Given the description of an element on the screen output the (x, y) to click on. 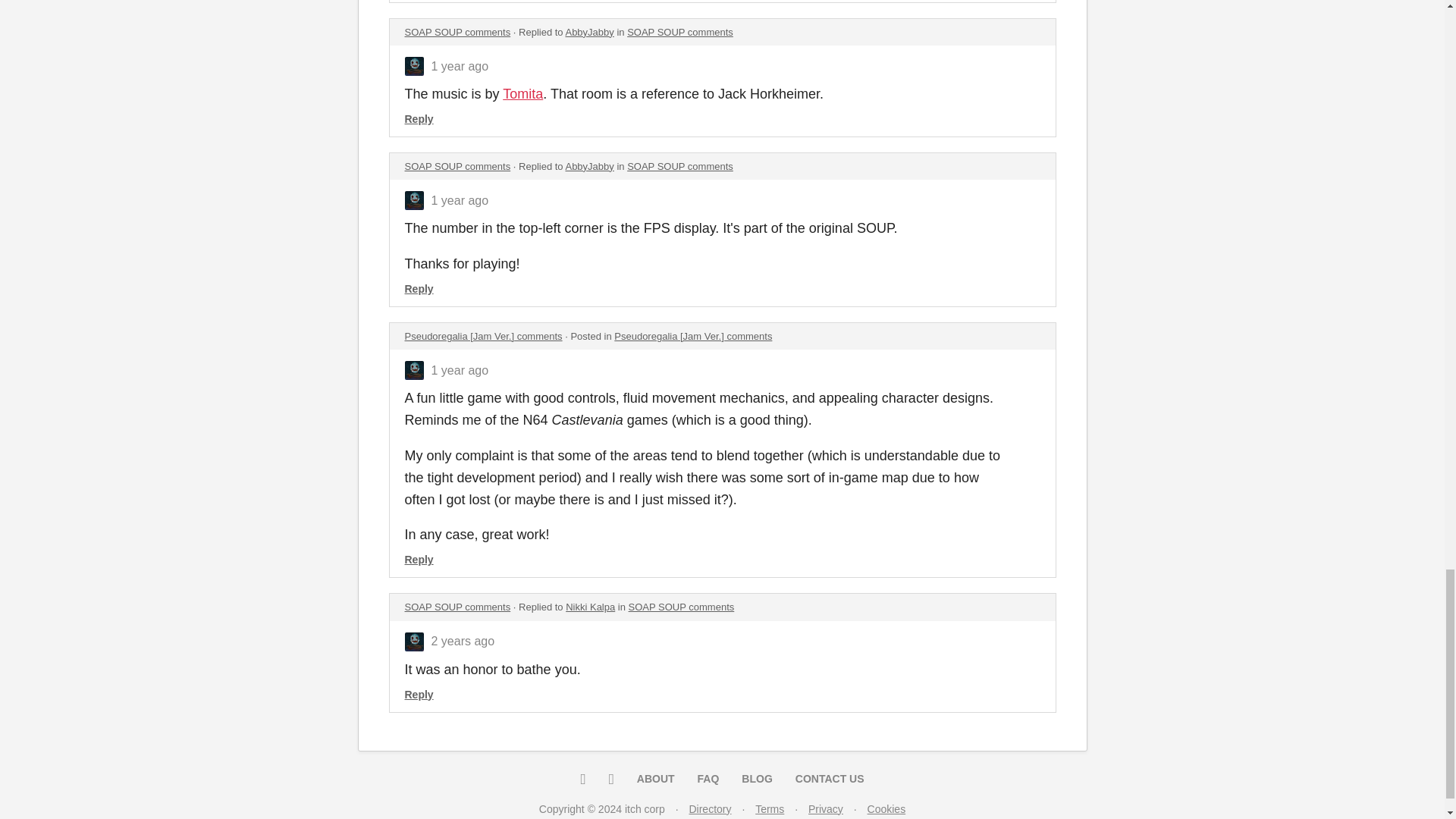
2023-03-19 19:02:52 (458, 369)
2022-04-11 20:29:30 (462, 640)
2023-04-11 03:48:54 (458, 65)
2023-04-11 03:45:37 (458, 200)
